Given the description of an element on the screen output the (x, y) to click on. 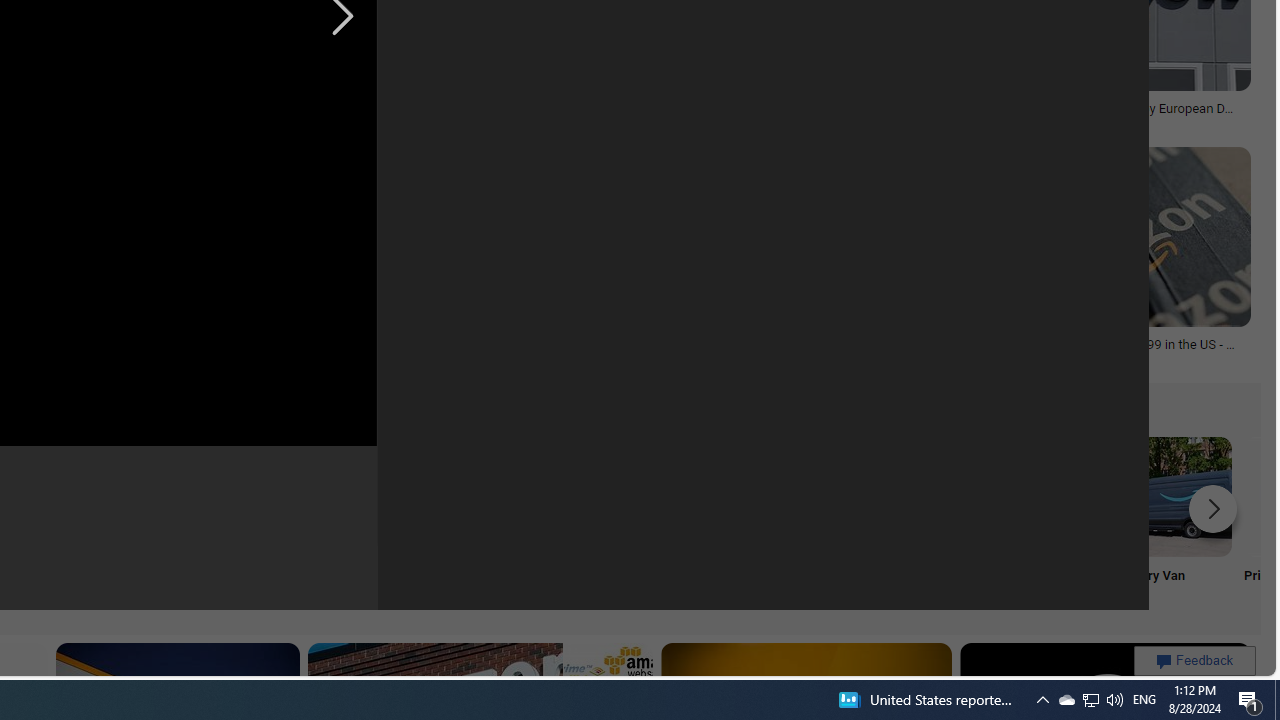
Amazon Delivery Van (1171, 496)
latimes.com (454, 359)
Amazon Prime price jumping to $99 in the US - The Verge (1098, 350)
aiophotoz.com (777, 121)
The Verge (588, 123)
Mini TV (116, 521)
Image result for amazon (1098, 236)
aiophotoz.com (829, 123)
latimes.com (347, 358)
Amazon Official Website (907, 496)
